Given the description of an element on the screen output the (x, y) to click on. 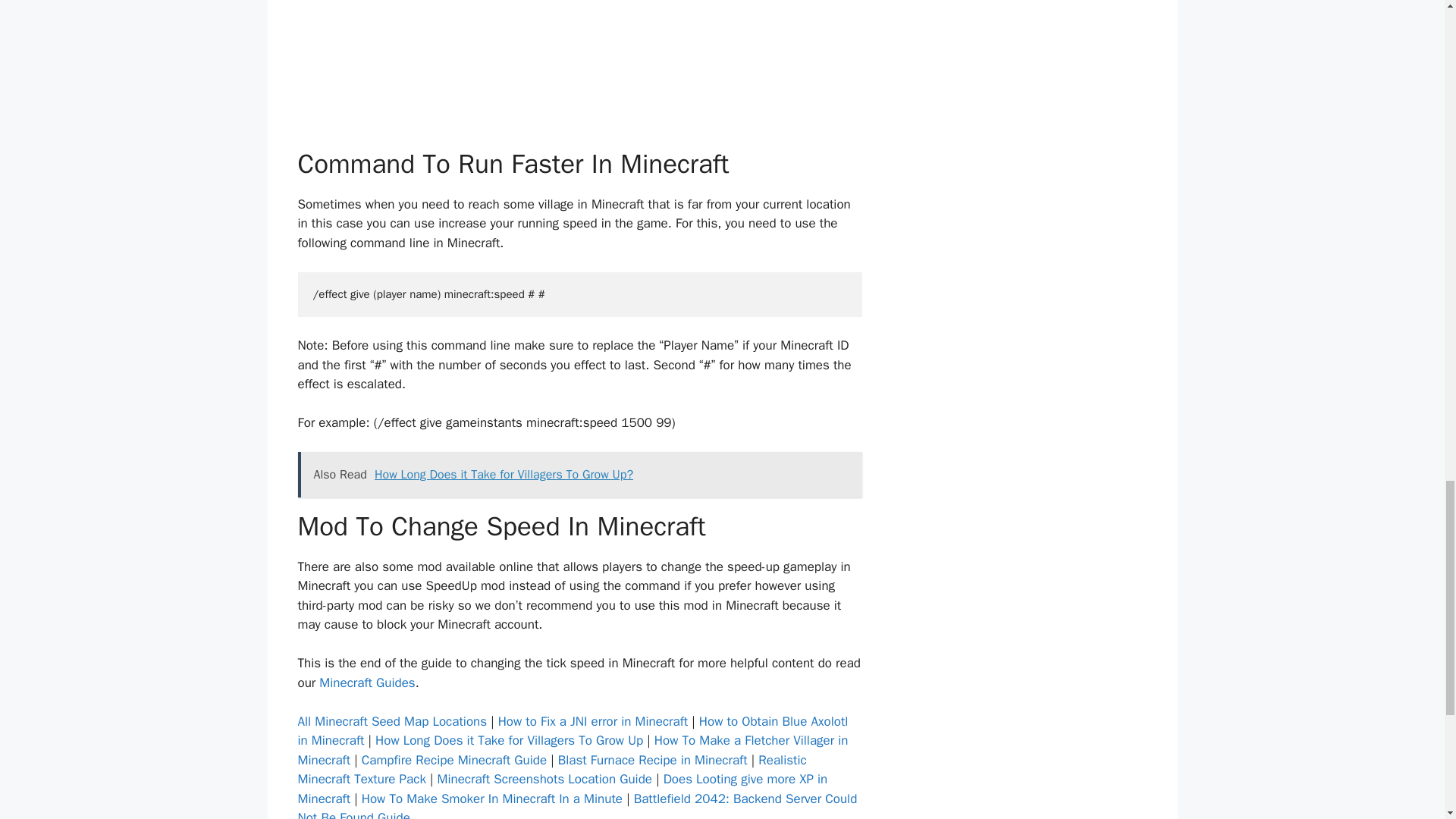
Also Read  How Long Does it Take for Villagers To Grow Up? (579, 474)
Campfire Recipe Minecraft Guide (454, 760)
How To Make a Fletcher Villager in Minecraft (572, 750)
How Long Does it Take for Villagers To Grow Up (509, 740)
How to Fix a JNI error in Minecraft (592, 721)
All Minecraft Seed Map Locations (391, 721)
Minecraft Screenshots Location Guide (545, 779)
Does Looting give more XP in Minecraft (562, 788)
Blast Furnace Recipe in Minecraft (652, 760)
Realistic Minecraft Texture Pack (551, 769)
Battlefield 2042: Backend Server Could Not Be Found Guide (577, 805)
How to Change The Tick Speed in Minecraft (579, 74)
How To Make Smoker In Minecraft In a Minute (492, 798)
How to Obtain Blue Axolotl in Minecraft (572, 731)
Minecraft Guides (366, 682)
